Given the description of an element on the screen output the (x, y) to click on. 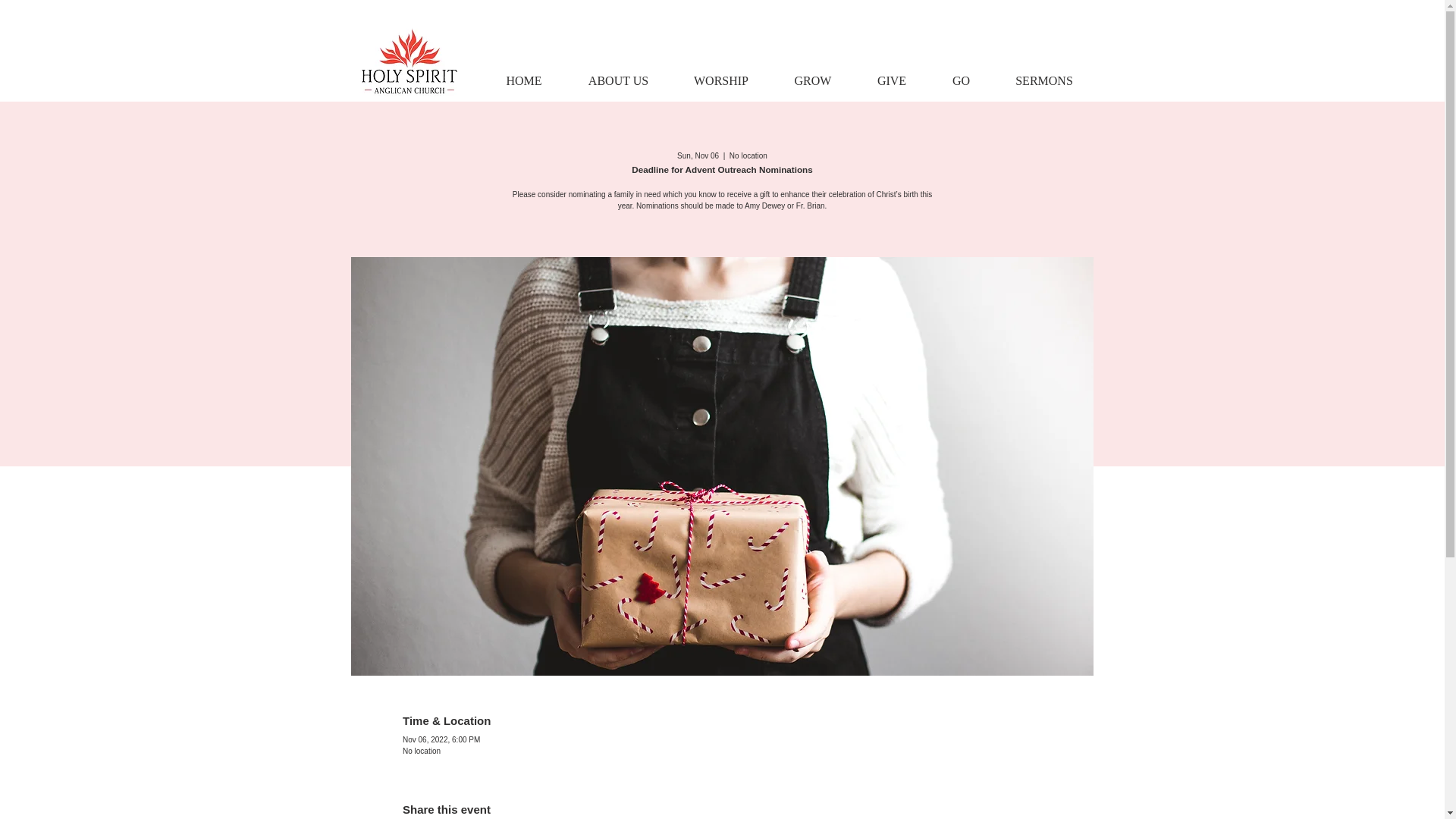
GO (960, 80)
WORSHIP (719, 80)
ABOUT US (618, 80)
GIVE (890, 80)
HOME (522, 80)
SERMONS (1043, 80)
GROW (811, 80)
